Given the description of an element on the screen output the (x, y) to click on. 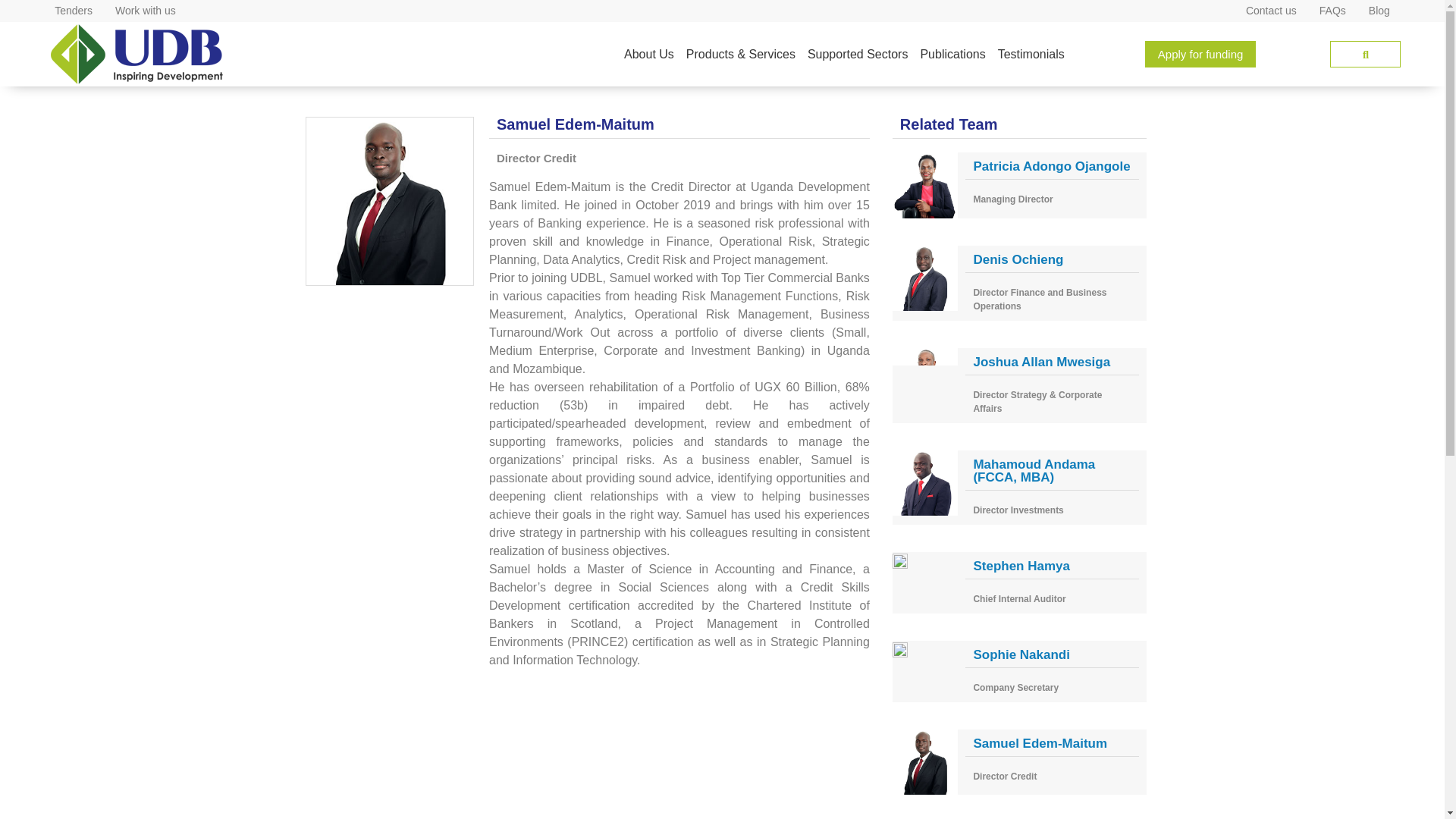
Contact us (1270, 10)
Work with us (145, 10)
Supported Sectors (858, 53)
About Us (648, 53)
Blog (1378, 10)
Tenders (73, 10)
Publications (952, 53)
FAQs (1331, 10)
